Given the description of an element on the screen output the (x, y) to click on. 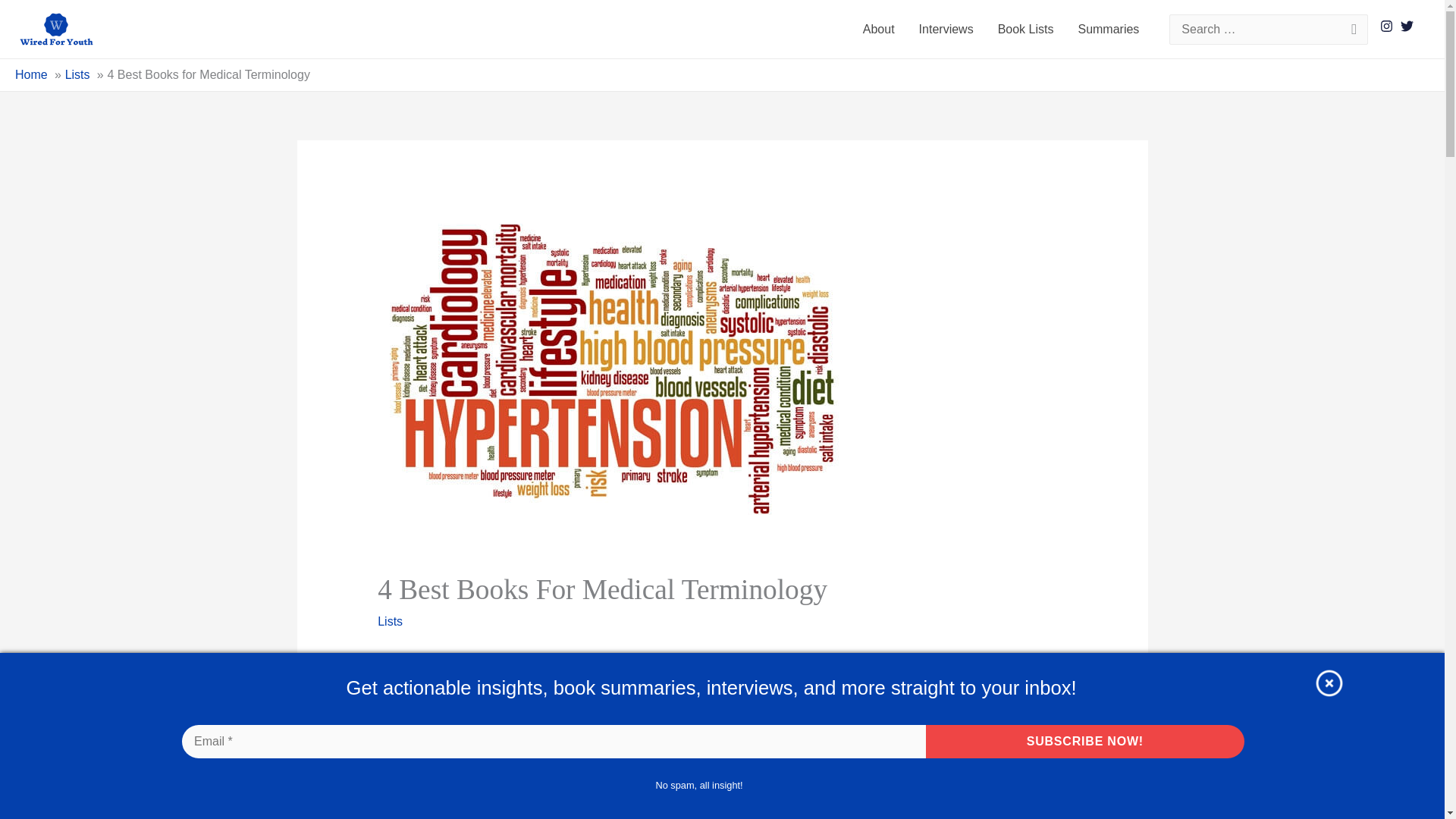
Book Lists (1025, 28)
Facebook (392, 680)
Summaries (1108, 28)
Facebook (392, 680)
LinkedIn (514, 680)
SUBSCRIBE NOW! (1085, 741)
Twitter (422, 680)
LinkedIn (514, 680)
Pinterest (483, 680)
Email (453, 680)
Email (554, 741)
Twitter (422, 680)
Learn more (741, 771)
About (878, 28)
